Given the description of an element on the screen output the (x, y) to click on. 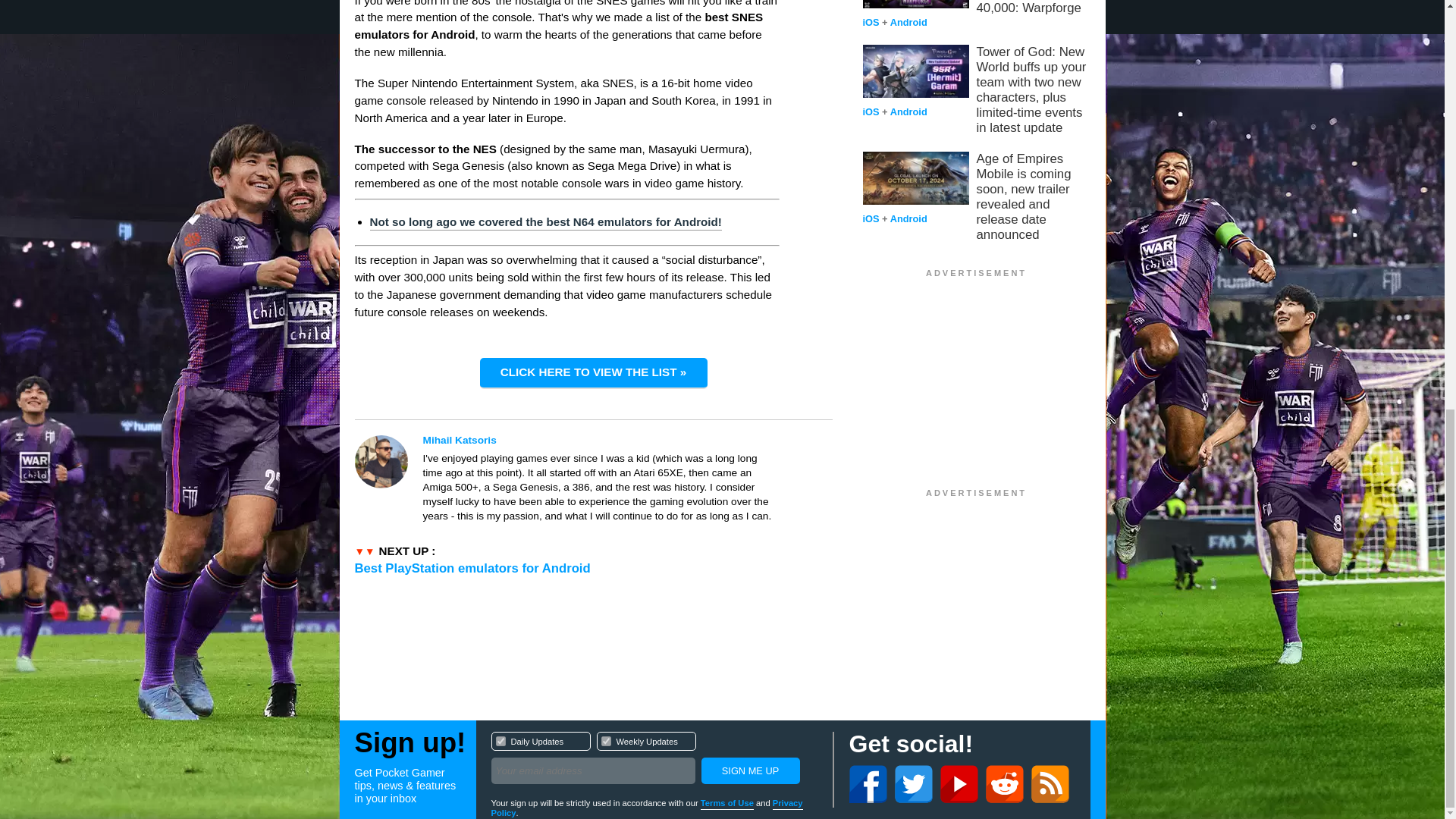
2 (604, 741)
Best PlayStation emulators for Android (473, 568)
Mihail Katsoris (600, 440)
Sign Me Up (749, 770)
1 (654, 759)
